Given the description of an element on the screen output the (x, y) to click on. 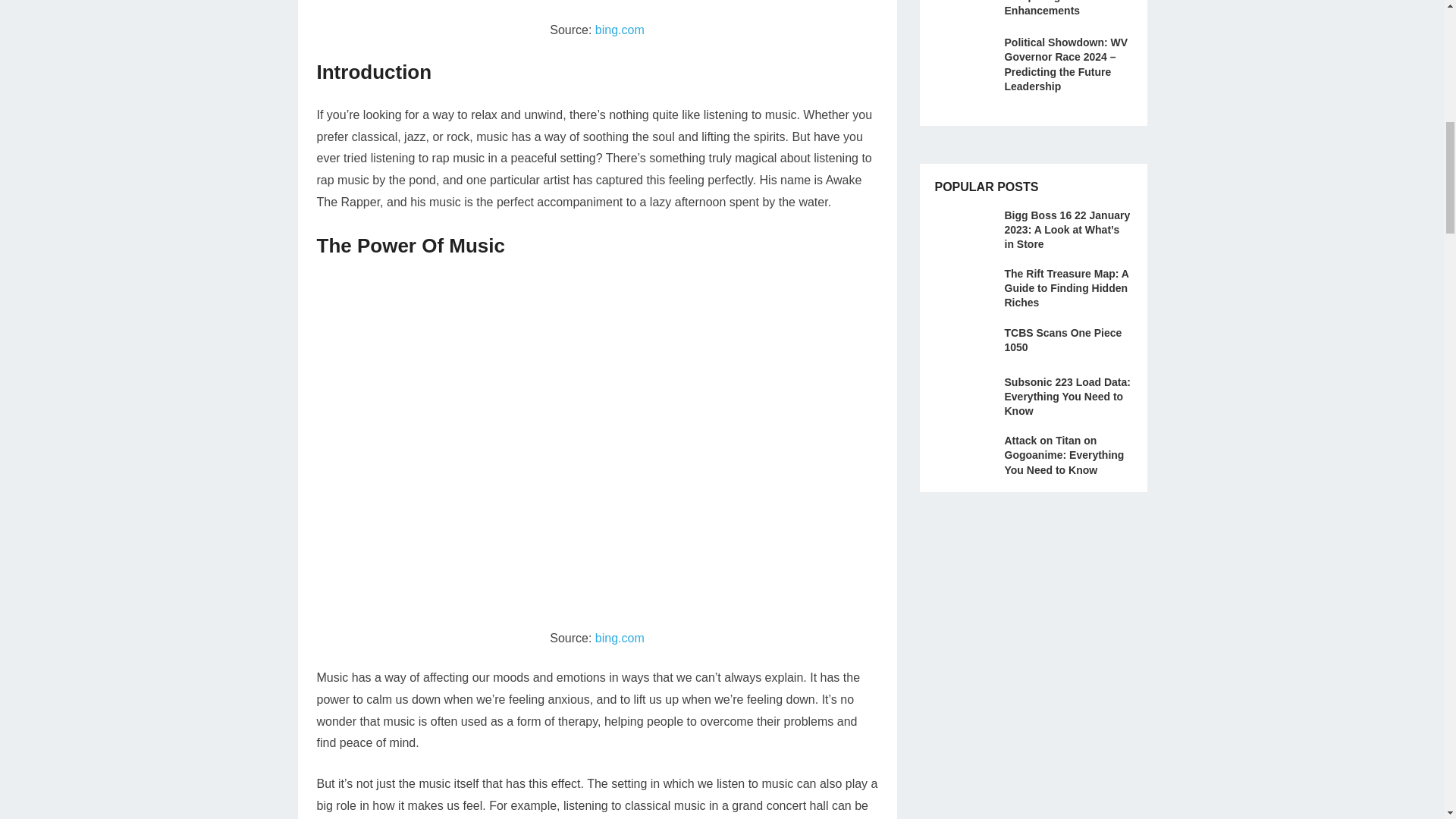
bing.com (620, 637)
bing.com (620, 29)
Listen To Awake The Rapper By The Pond (597, 10)
